Given the description of an element on the screen output the (x, y) to click on. 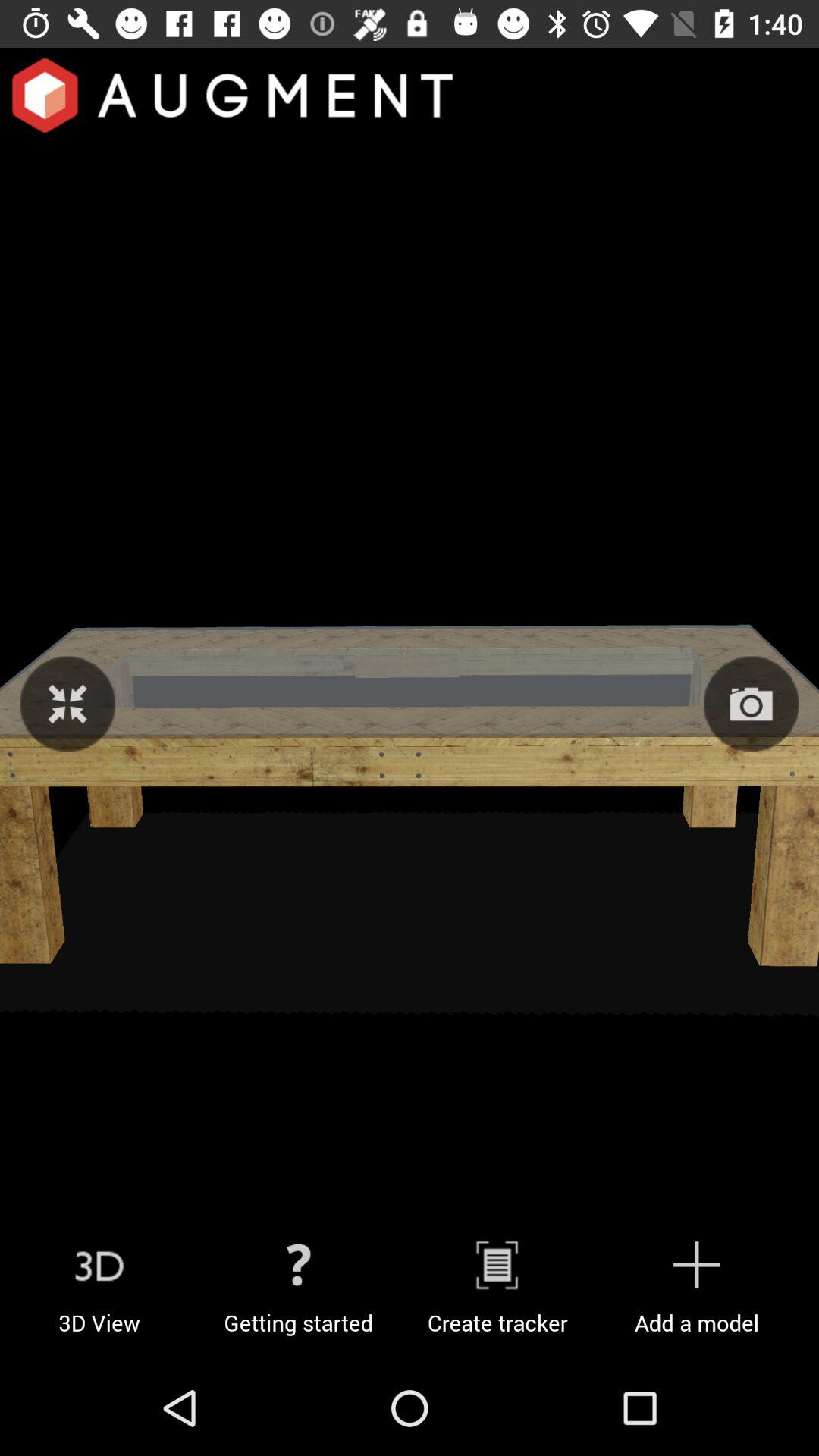
close (67, 703)
